Given the description of an element on the screen output the (x, y) to click on. 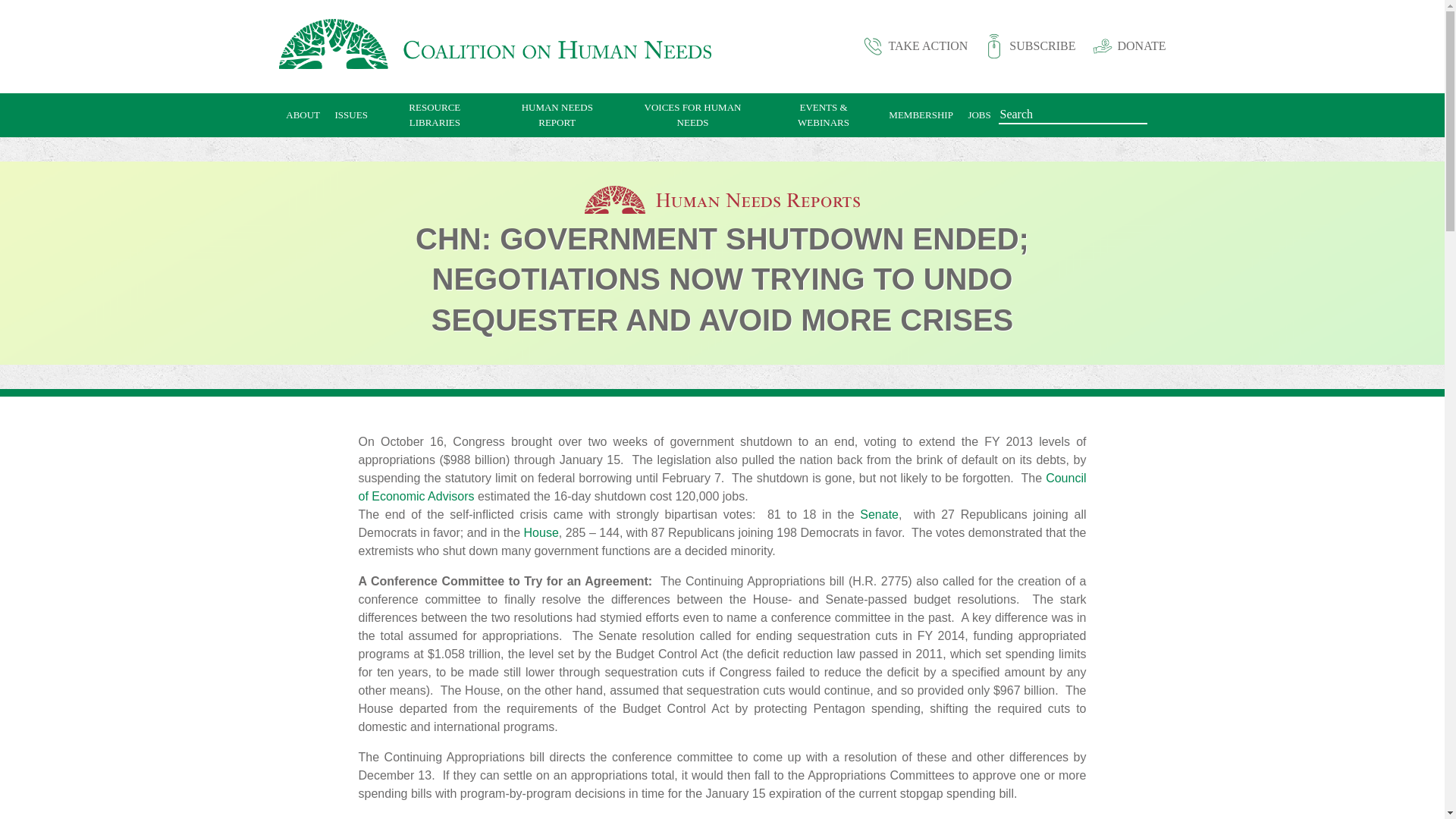
Council of Economic Advisors (722, 486)
RESOURCE LIBRARIES (435, 115)
MEMBERSHIP (921, 115)
House (541, 532)
HUMAN NEEDS REPORT (557, 115)
ABOUT (303, 115)
ISSUES (351, 115)
Senate (879, 513)
VOICES FOR HUMAN NEEDS (692, 115)
